Given the description of an element on the screen output the (x, y) to click on. 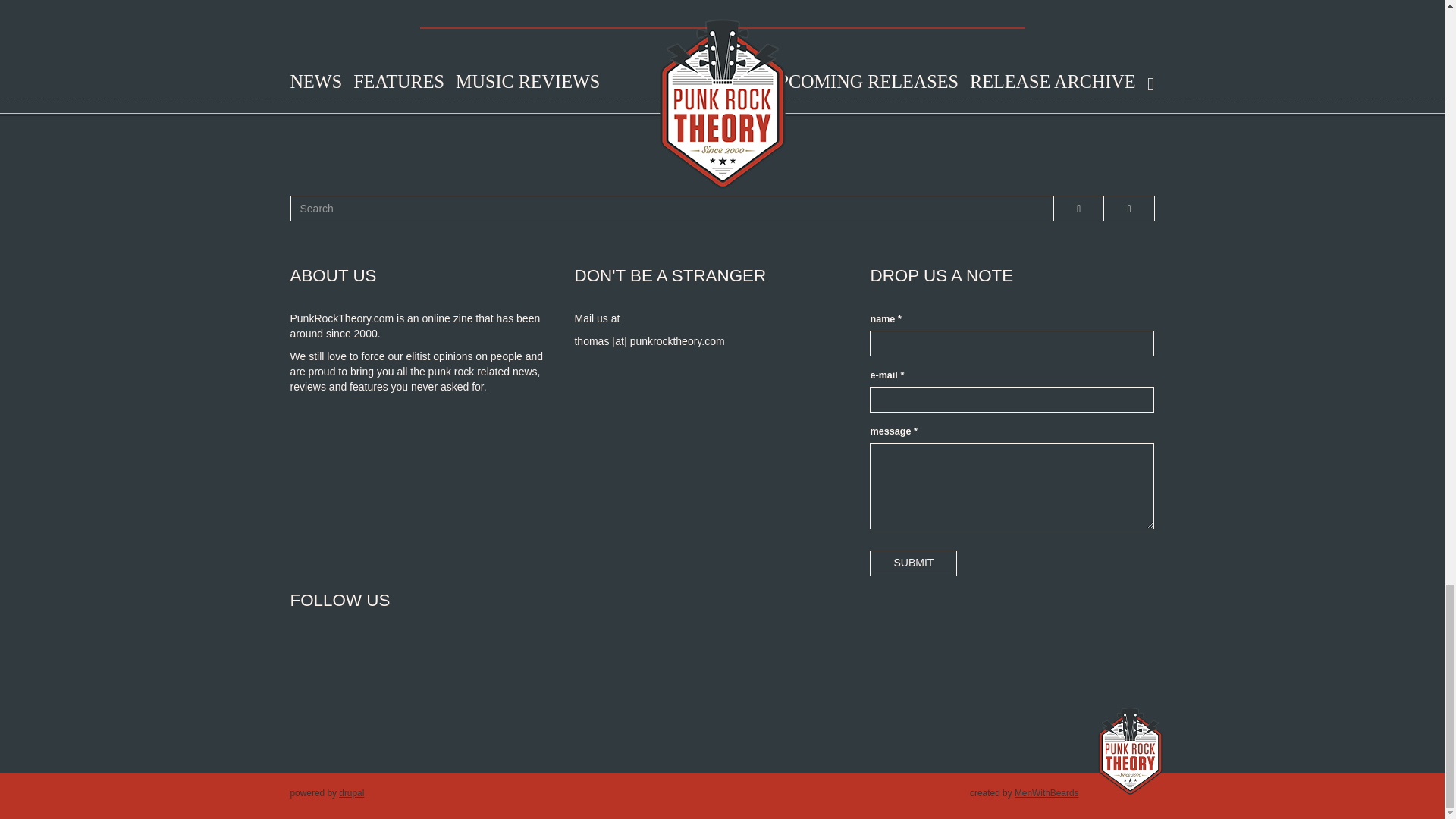
Twitter (364, 659)
SEARCH (312, 221)
YouTube (416, 659)
MenWithBeards (1046, 792)
drupal (351, 792)
Instagram (469, 659)
Enter the terms you wish to search for. (671, 208)
Facebook (311, 659)
SUBMIT (912, 563)
